Given the description of an element on the screen output the (x, y) to click on. 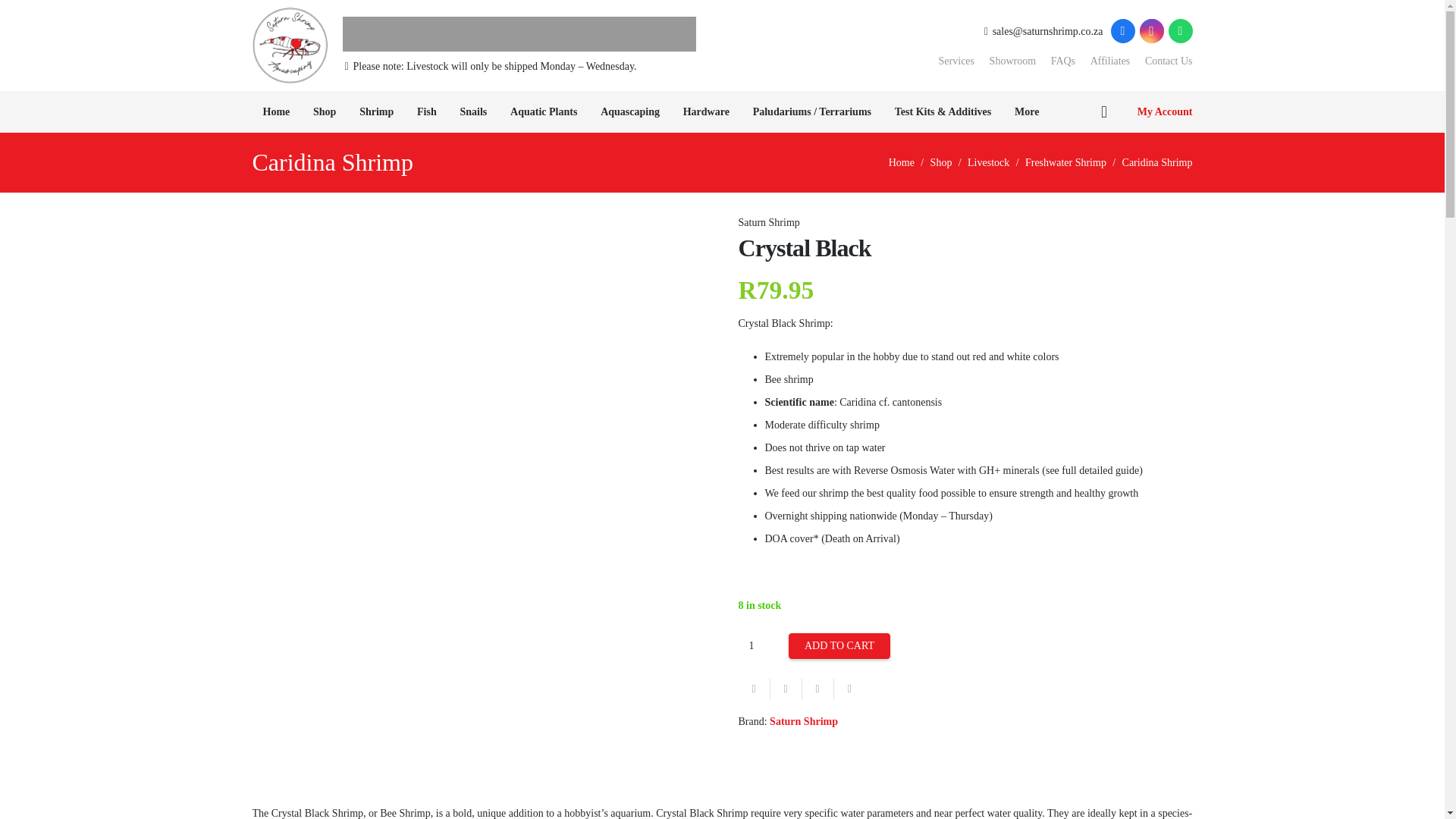
WhatsApp (1179, 30)
Email this (754, 689)
1 (762, 645)
Tweet this (818, 689)
Qty (762, 645)
Contact Us (1168, 60)
Share this (850, 689)
Snails (472, 111)
Shop (324, 111)
Instagram (1150, 30)
